Given the description of an element on the screen output the (x, y) to click on. 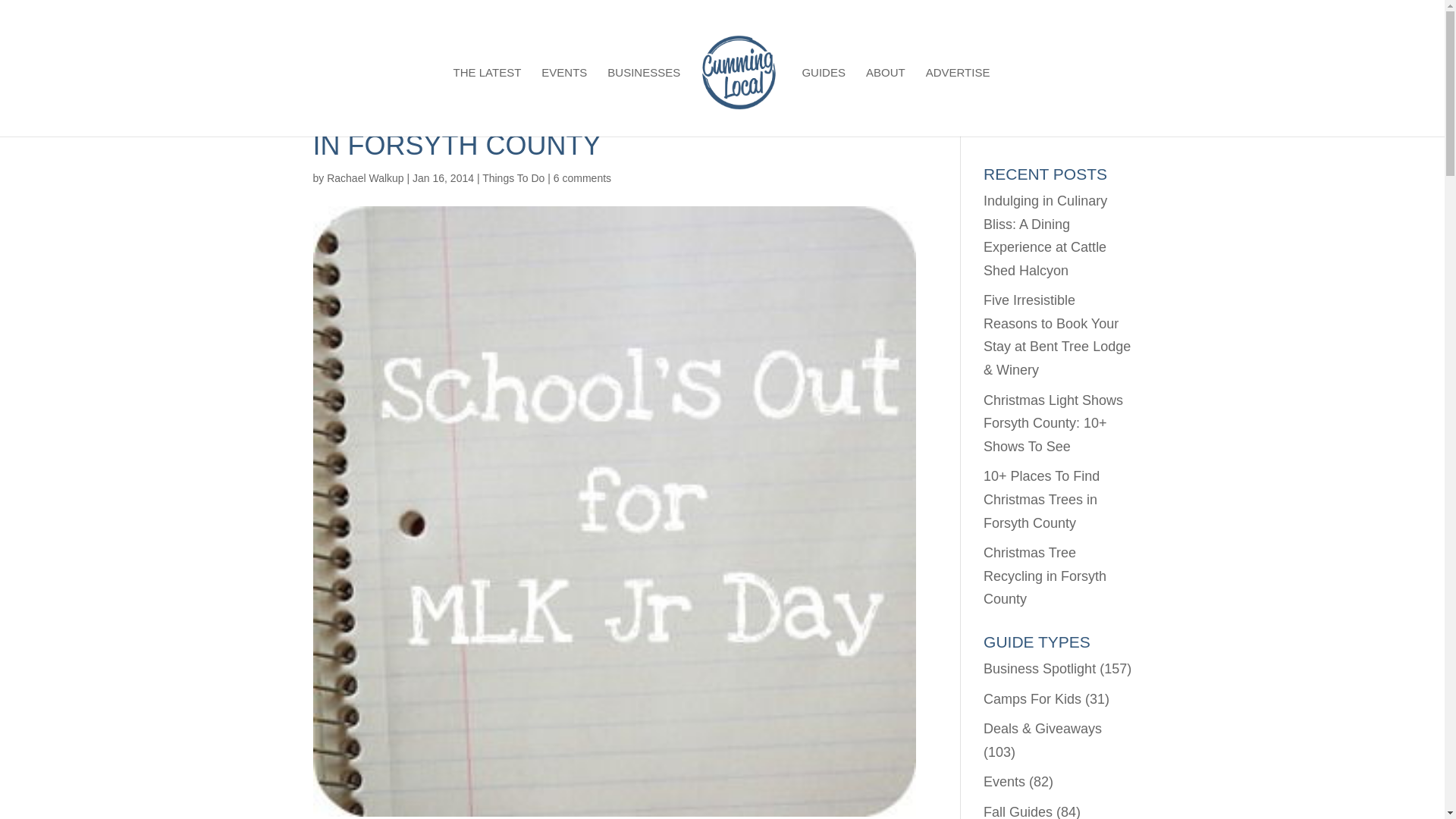
Posts by Rachael Walkup (364, 177)
6 comments (582, 177)
THE LATEST (486, 101)
Rachael Walkup (364, 177)
Things To Do (512, 177)
ADVERTISE (958, 101)
BUSINESSES (643, 101)
